Given the description of an element on the screen output the (x, y) to click on. 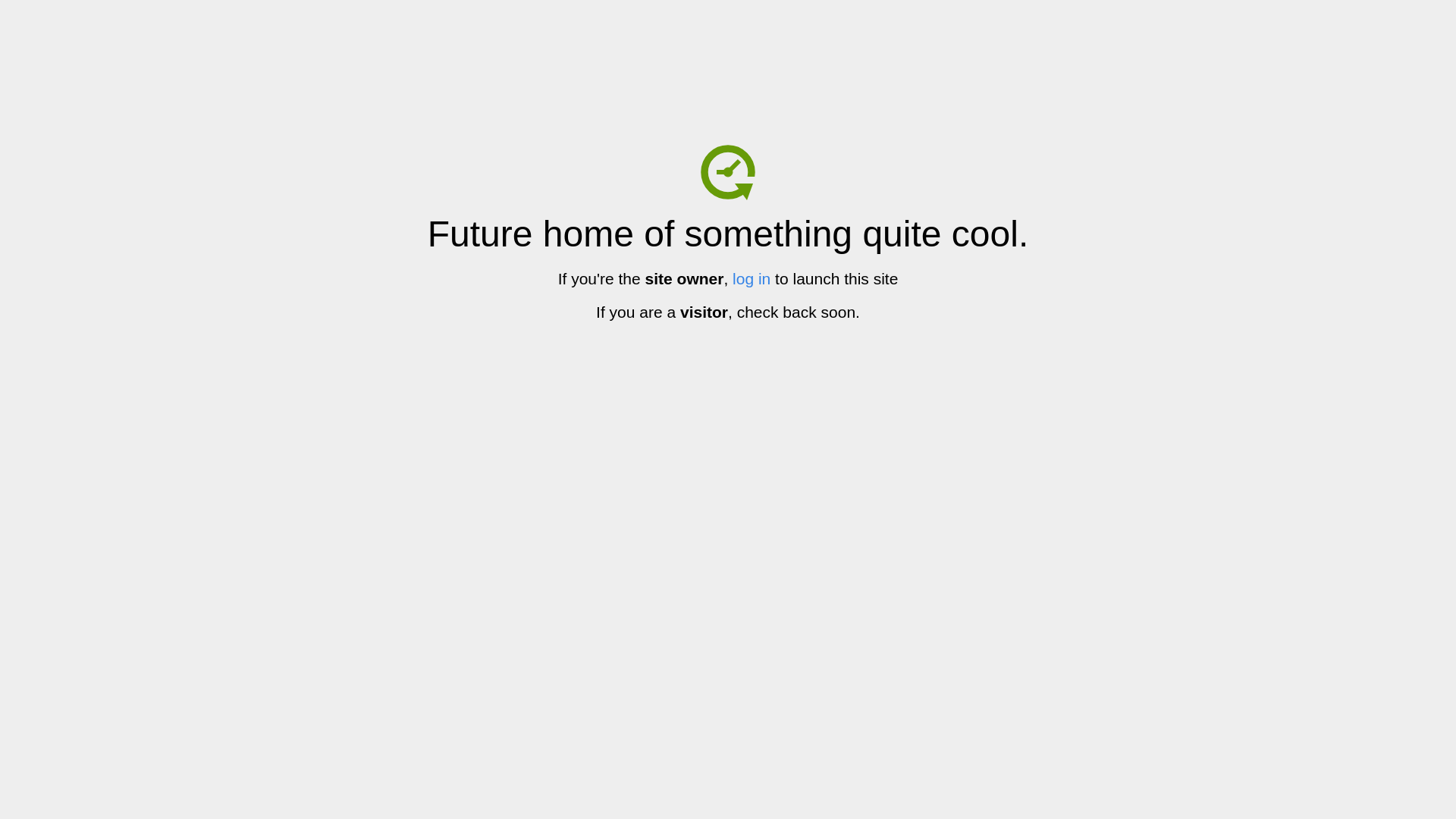
log in Element type: text (751, 278)
